Given the description of an element on the screen output the (x, y) to click on. 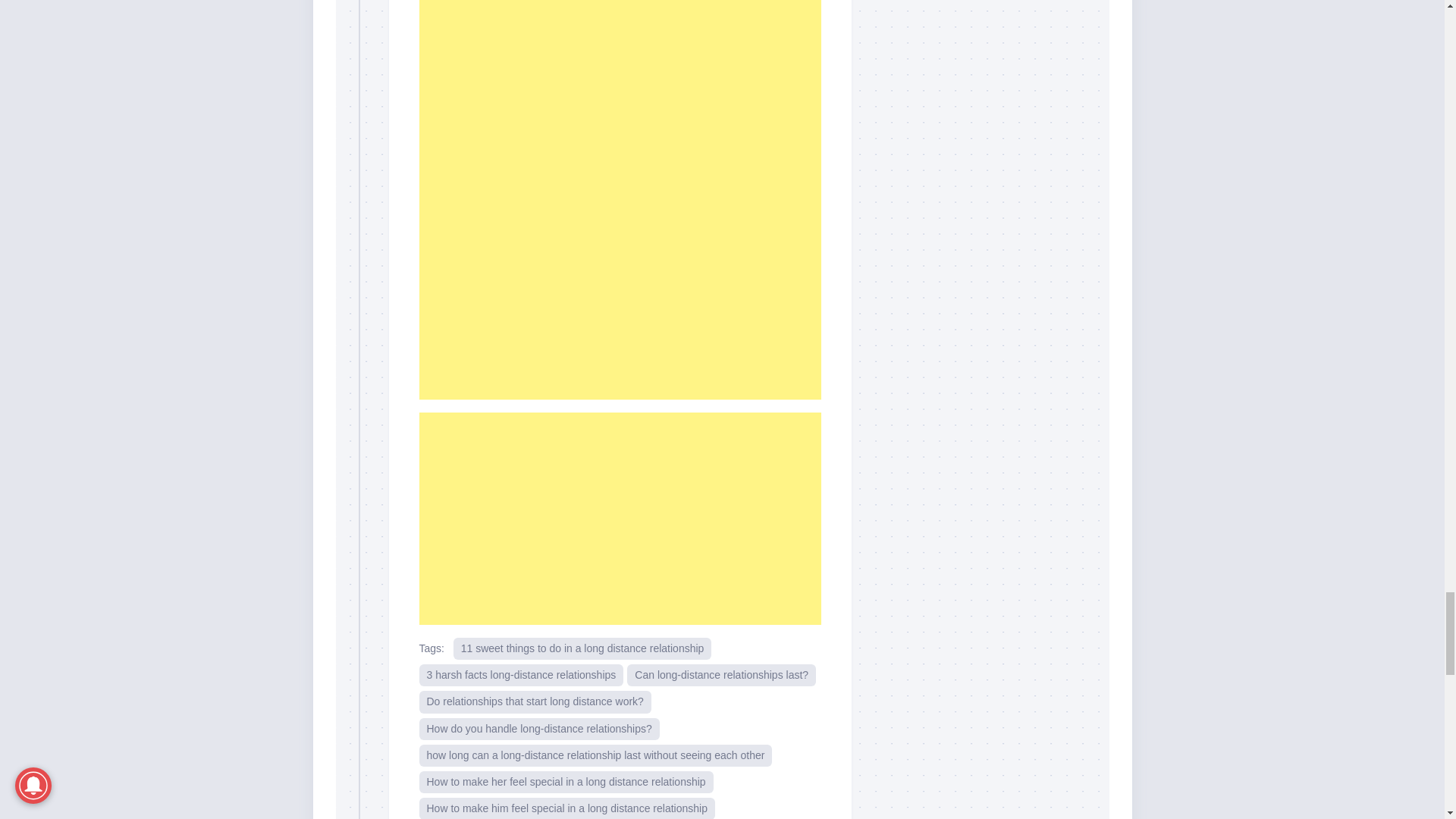
11 sweet things to do in a long distance relationship (581, 649)
3 harsh facts long-distance relationships (521, 675)
How do you handle long-distance relationships? (539, 729)
How to make her feel special in a long distance relationship (566, 782)
Do relationships that start long distance work? (534, 701)
Can long-distance relationships last? (721, 675)
How to make him feel special in a long distance relationship (566, 808)
